Given the description of an element on the screen output the (x, y) to click on. 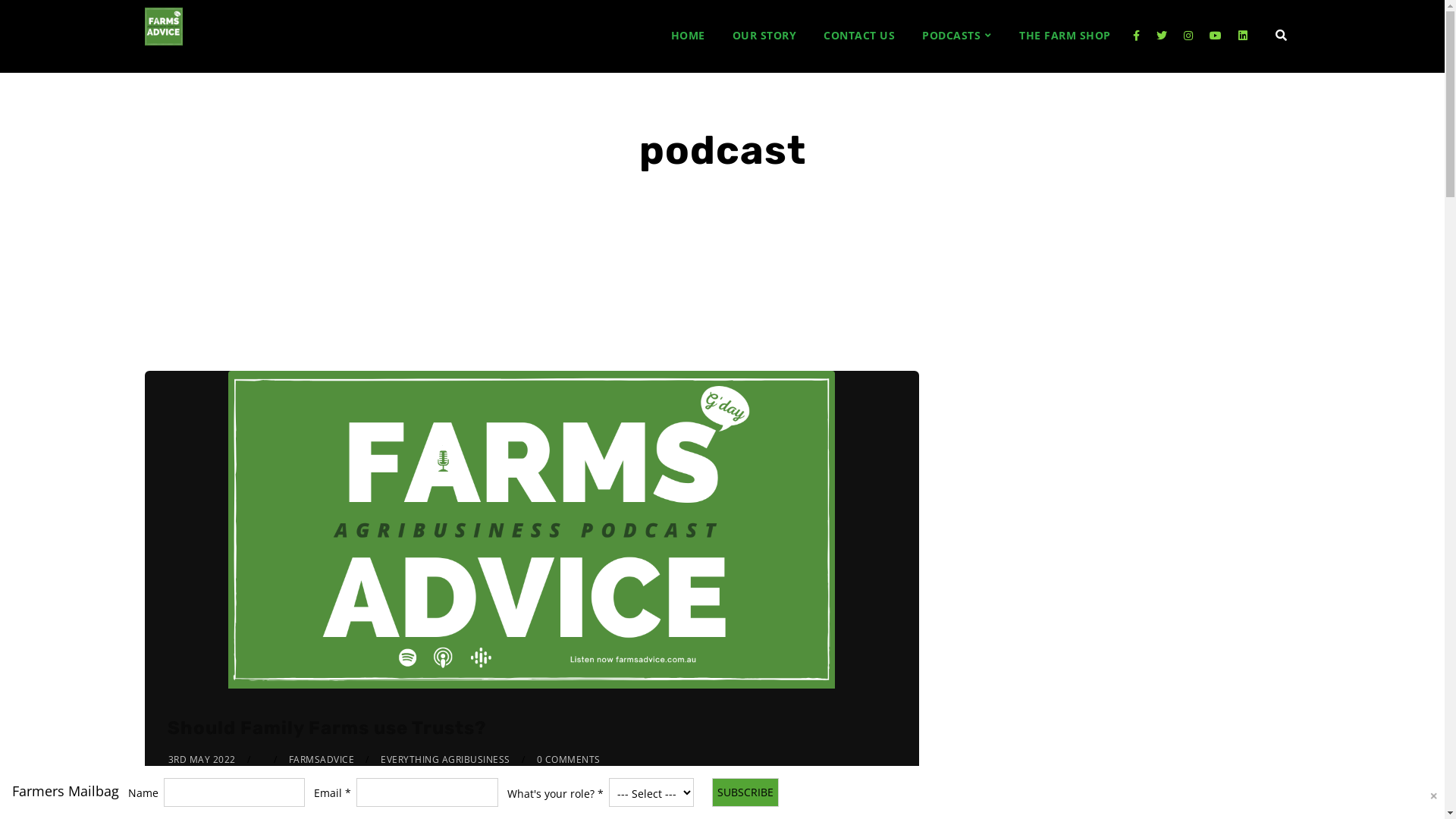
FARMSADVICE Element type: text (321, 759)
Should Family Farms use Trusts? Element type: text (325, 727)
SUBSCRIBE Element type: text (745, 792)
THE FARM SHOP Element type: text (1064, 35)
EVERYTHING AGRIBUSINESS Element type: text (445, 759)
HOME Element type: text (687, 35)
3RD MAY 2022 Element type: text (201, 759)
PODCASTS Element type: text (956, 35)
Instagram Element type: hover (1188, 35)
CONTACT US Element type: text (858, 35)
Farms Advice Podcast Element type: hover (163, 26)
0 COMMENTS Element type: text (568, 759)
Facebook Element type: hover (1135, 35)
Youtube Element type: hover (1215, 35)
OUR STORY Element type: text (764, 35)
LinkedIn Element type: hover (1242, 35)
Twitter Element type: hover (1161, 35)
Submit Element type: text (29, 20)
